Given the description of an element on the screen output the (x, y) to click on. 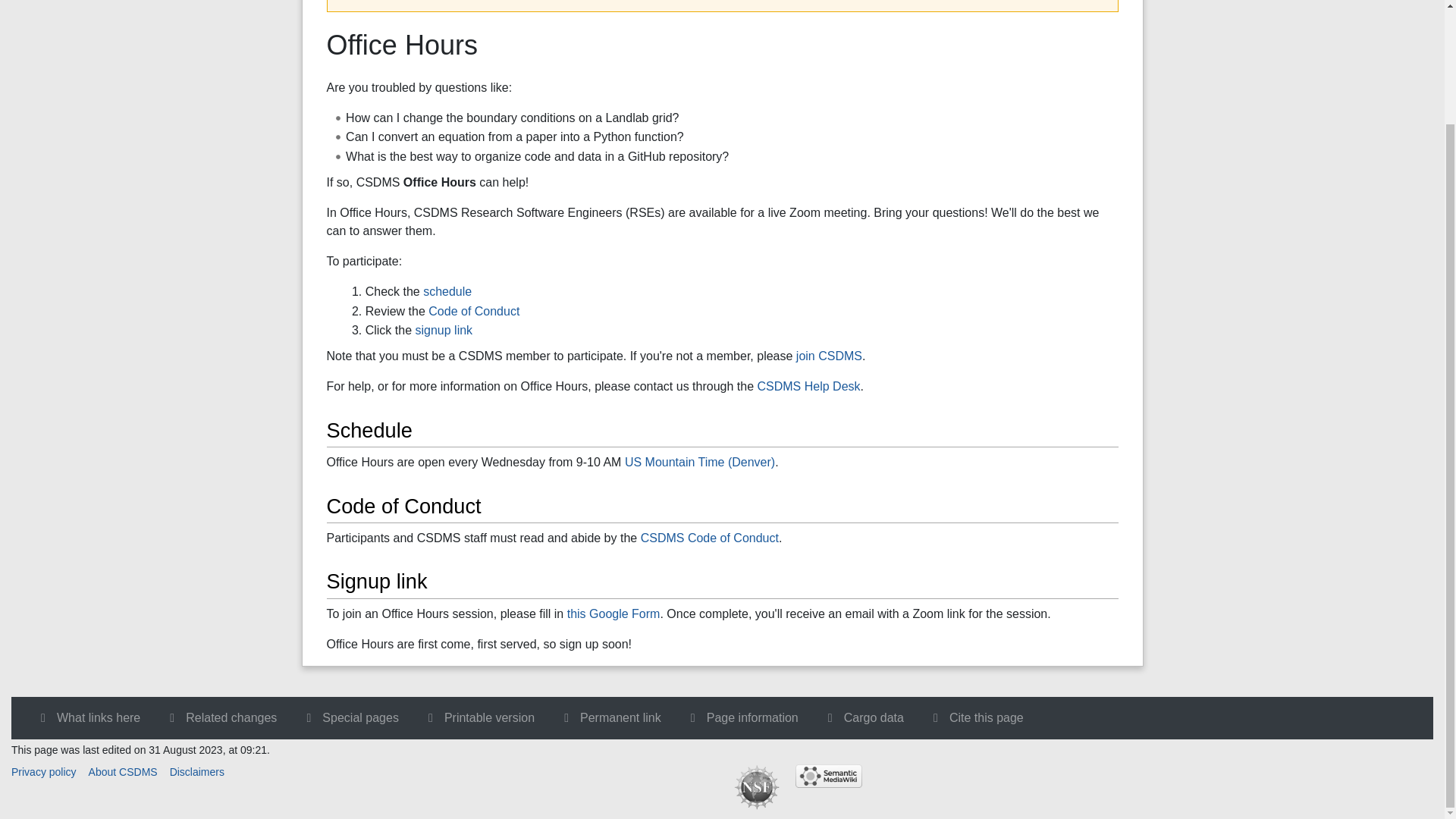
CodeOfConduct-Events (709, 537)
Special:RequestAccount (828, 355)
